Given the description of an element on the screen output the (x, y) to click on. 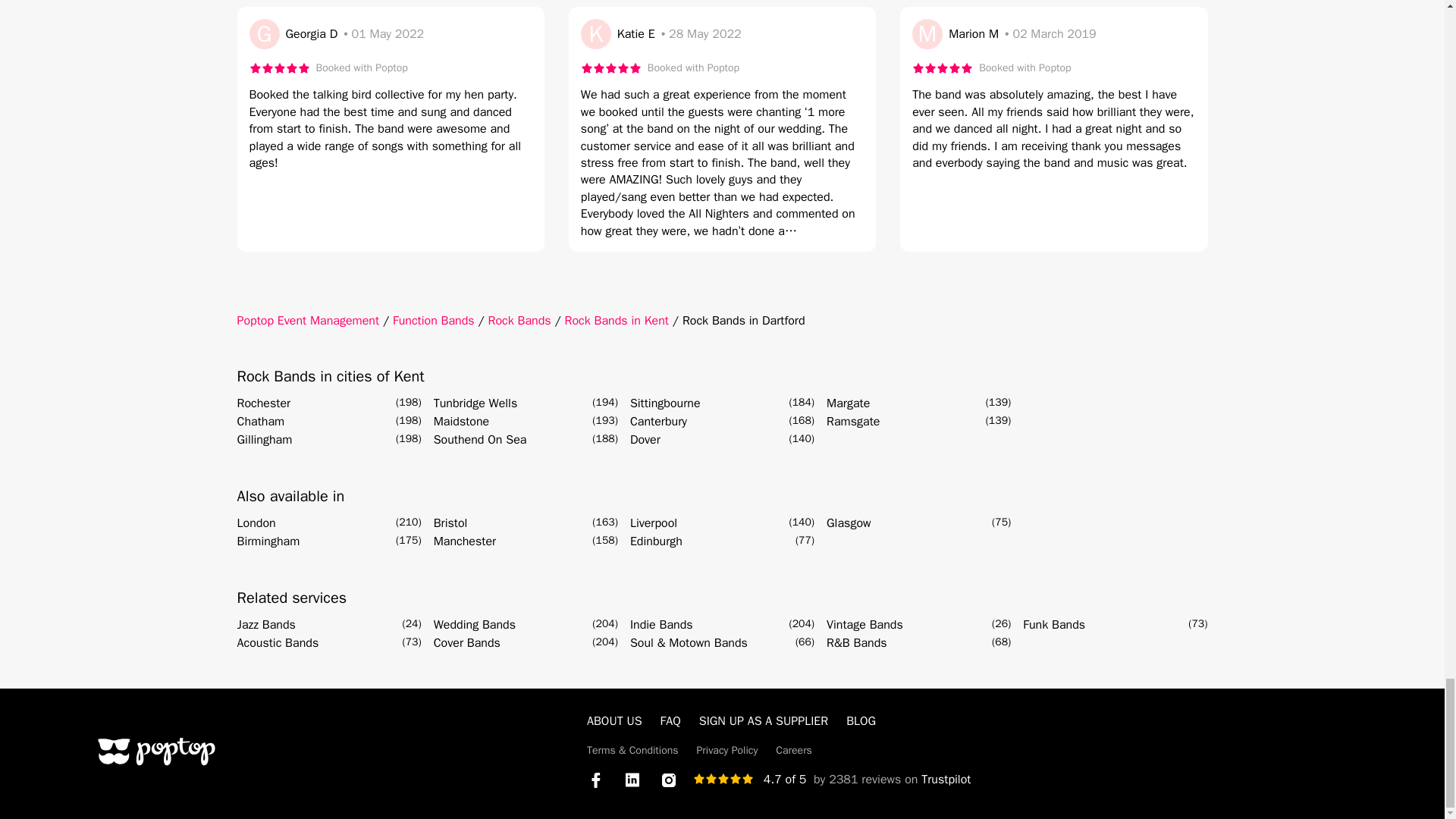
Canterbury (658, 421)
Margate (848, 402)
Maidstone (461, 421)
Chatham (259, 421)
Dover (645, 439)
Rock Bands in Kent (616, 320)
Sittingbourne (665, 402)
Rochester (262, 402)
Tunbridge Wells (475, 402)
Gillingham (263, 439)
